Given the description of an element on the screen output the (x, y) to click on. 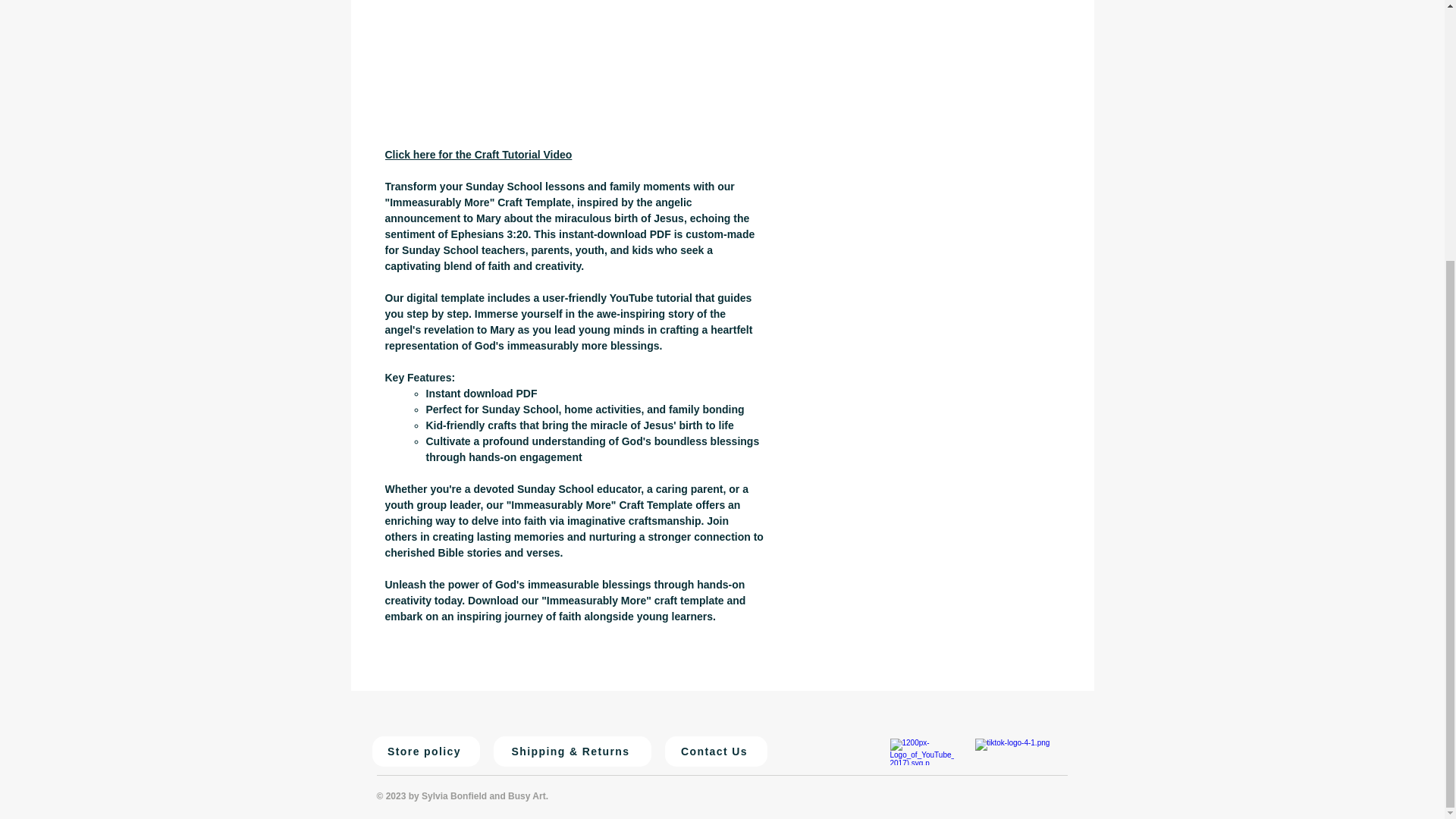
Click here for the Craft Tutorial Video (478, 154)
Contact Us (715, 751)
Store policy (425, 751)
